Given the description of an element on the screen output the (x, y) to click on. 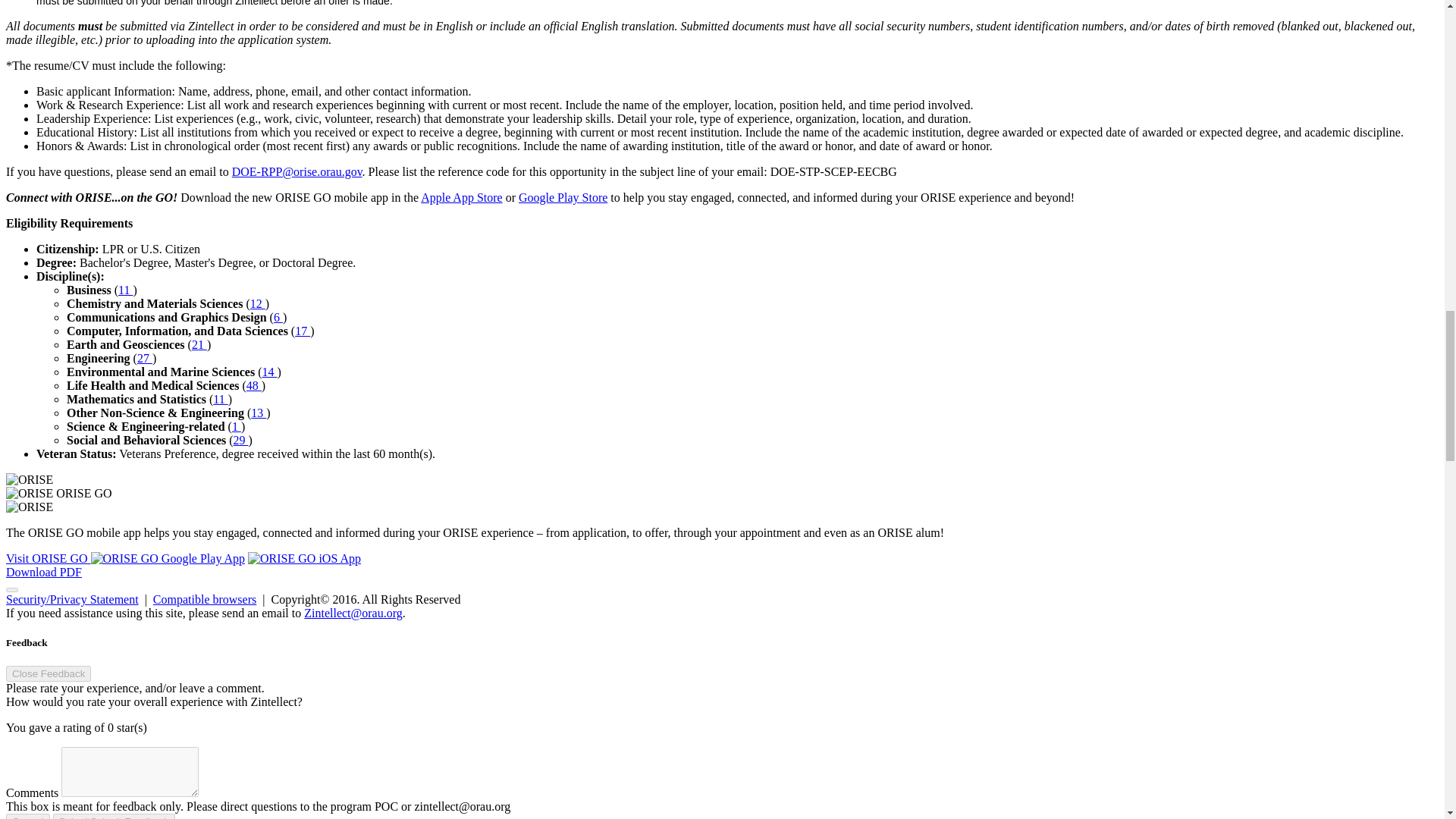
29 (240, 440)
21 (199, 344)
11 (124, 289)
13 (258, 412)
Visit ORISE GO (47, 558)
Close Feedback (47, 673)
17 (302, 330)
27 (144, 358)
Cancel (27, 816)
11 (219, 399)
48 (254, 385)
Download PDF (43, 571)
12 (257, 303)
Apple App Store (461, 196)
Compatible browsers (204, 599)
